Given the description of an element on the screen output the (x, y) to click on. 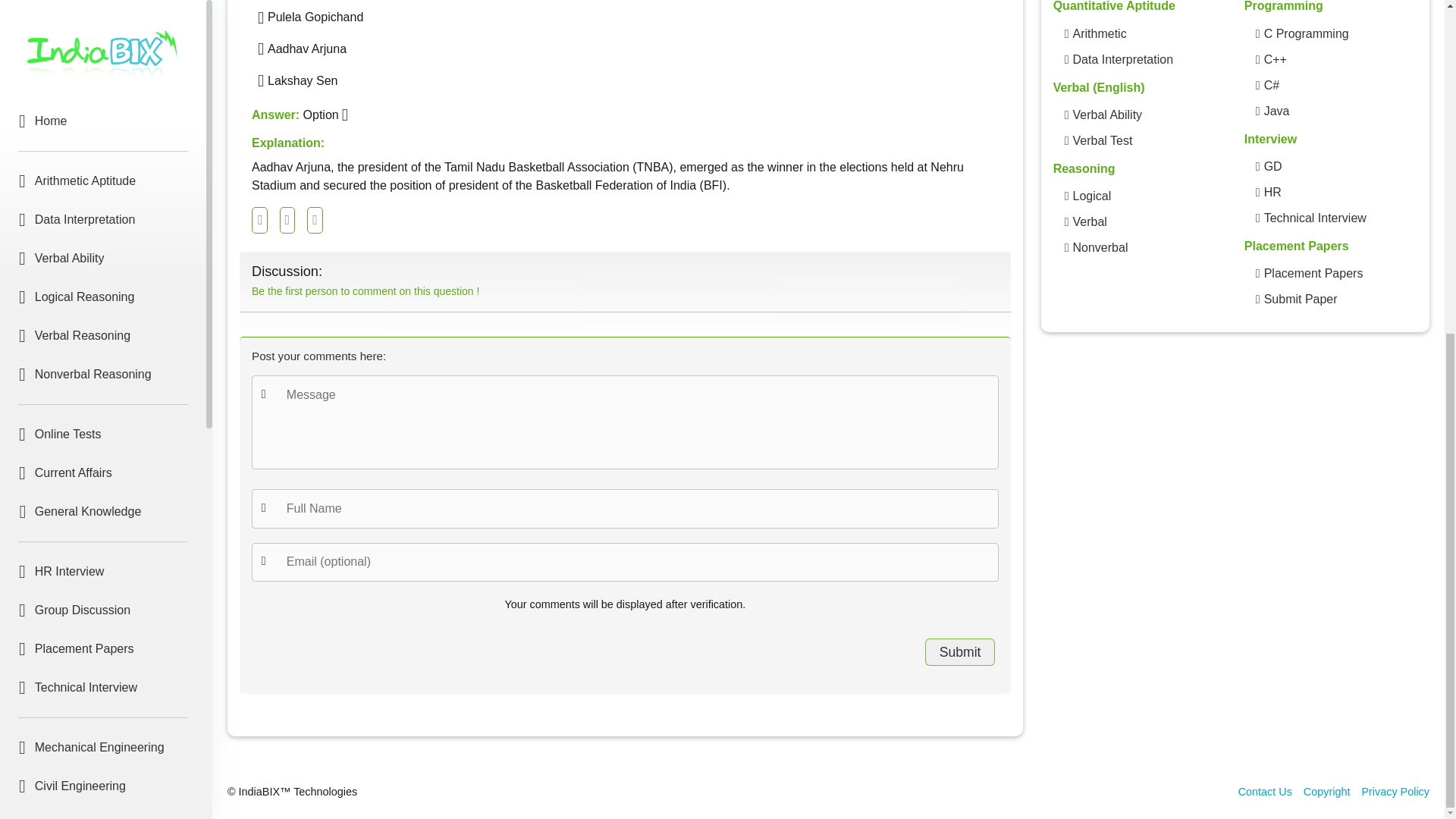
Civil Engineering (103, 230)
Technical Interview Questions (1315, 218)
Verbal Reasoning (1088, 221)
HR Interview (103, 16)
Arithmetic Aptitude (1098, 34)
Biochemistry (103, 736)
C Programming (103, 444)
Nonverbal Reasoning (1098, 248)
Java (103, 560)
Microbiology (103, 697)
